Given the description of an element on the screen output the (x, y) to click on. 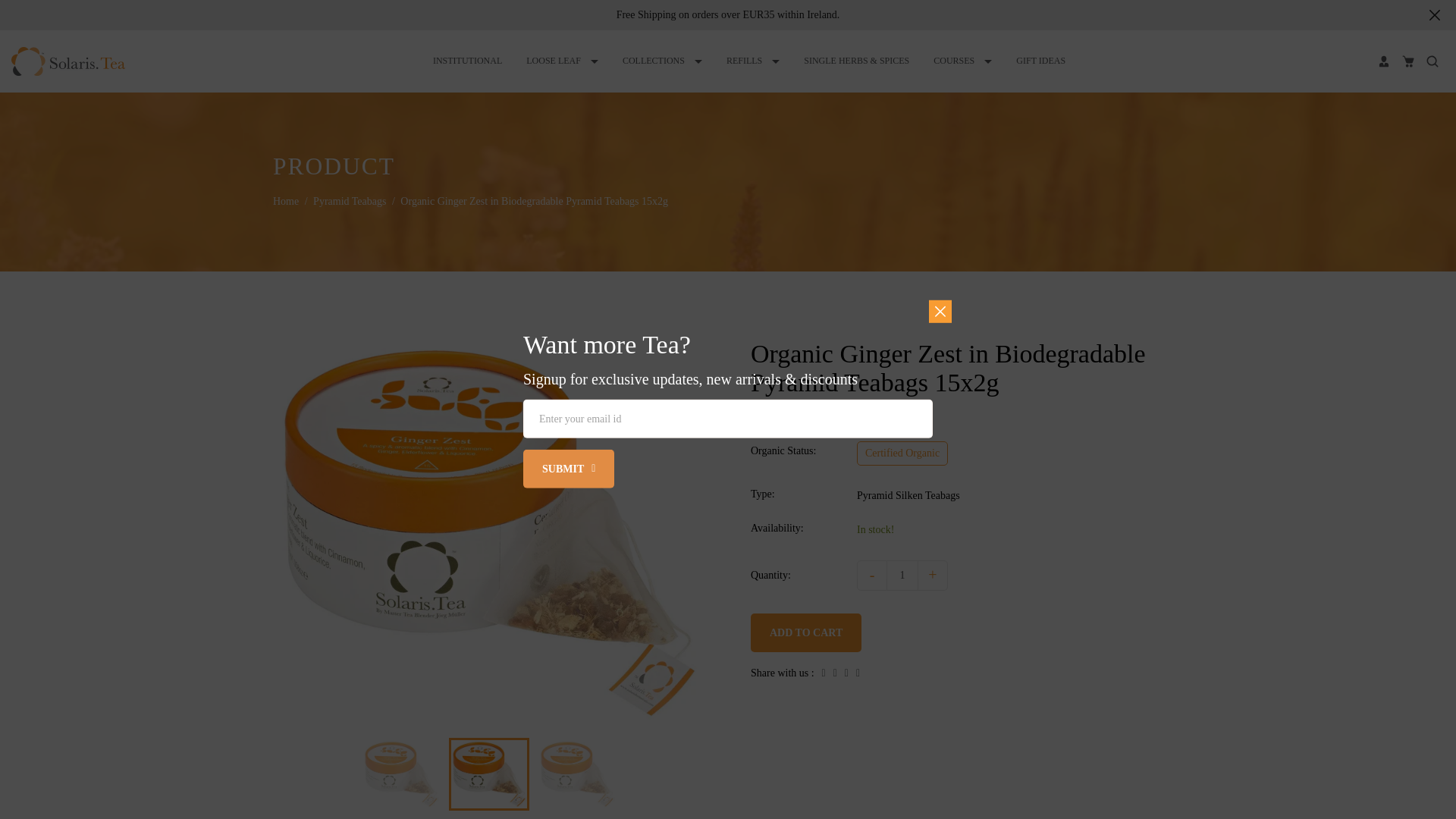
Free Shipping on orders over EUR35 within Ireland. (727, 14)
Search (1432, 60)
Organic Ginger Zest in Biodegradable Pyramid Teabags 15x2g (400, 774)
INSTITUTIONAL (467, 61)
Organic Ginger Zest in Biodegradable Pyramid Teabags 15x2g (489, 774)
Your Cart (1407, 60)
Organic Ginger Zest in Biodegradable Pyramid Teabags 15x2g (576, 774)
COURSES (962, 61)
REFILLS (752, 61)
